Given the description of an element on the screen output the (x, y) to click on. 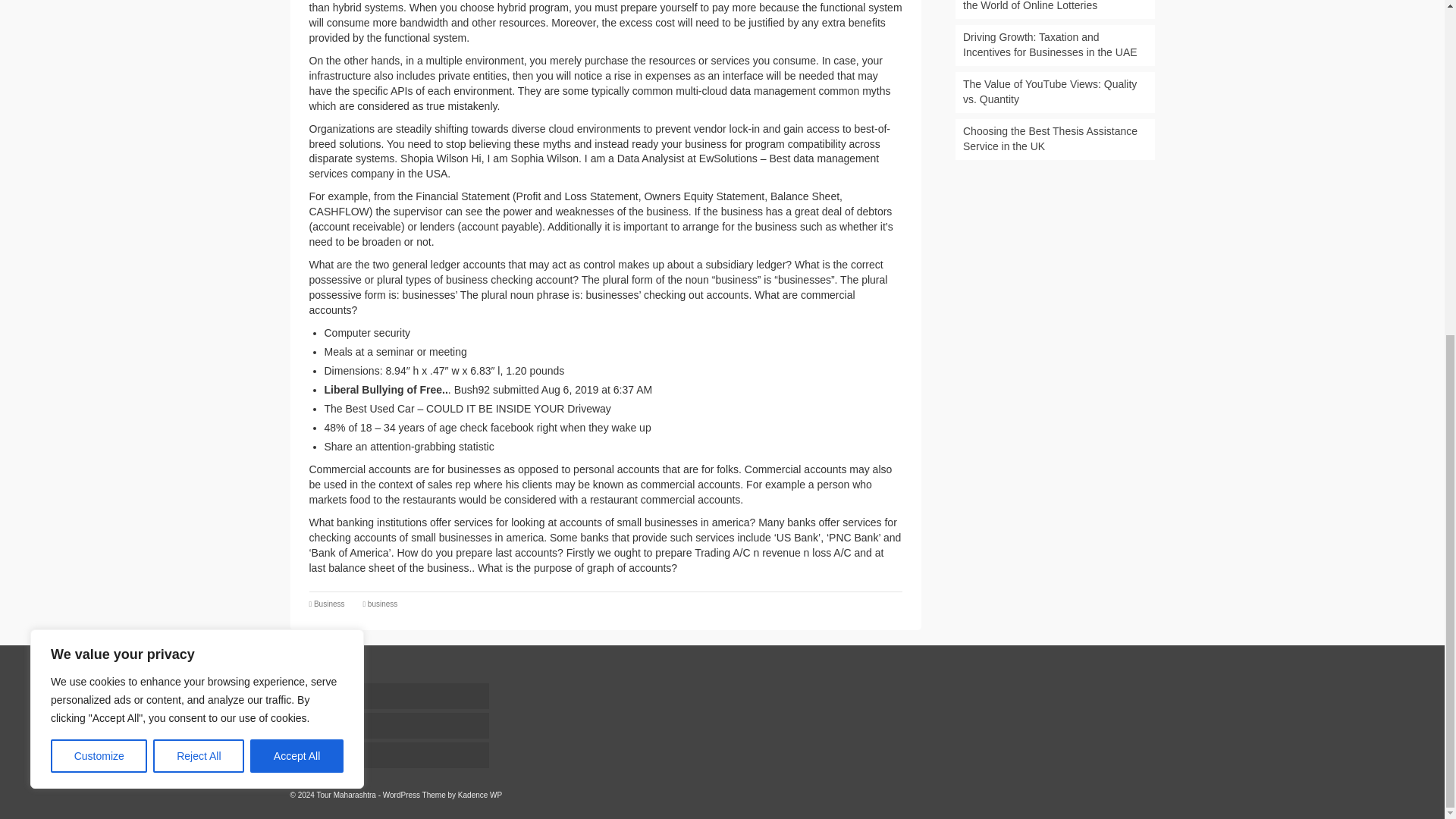
Reject All (198, 195)
business (382, 603)
Business (329, 603)
Customize (98, 195)
Accept All (296, 195)
